Given the description of an element on the screen output the (x, y) to click on. 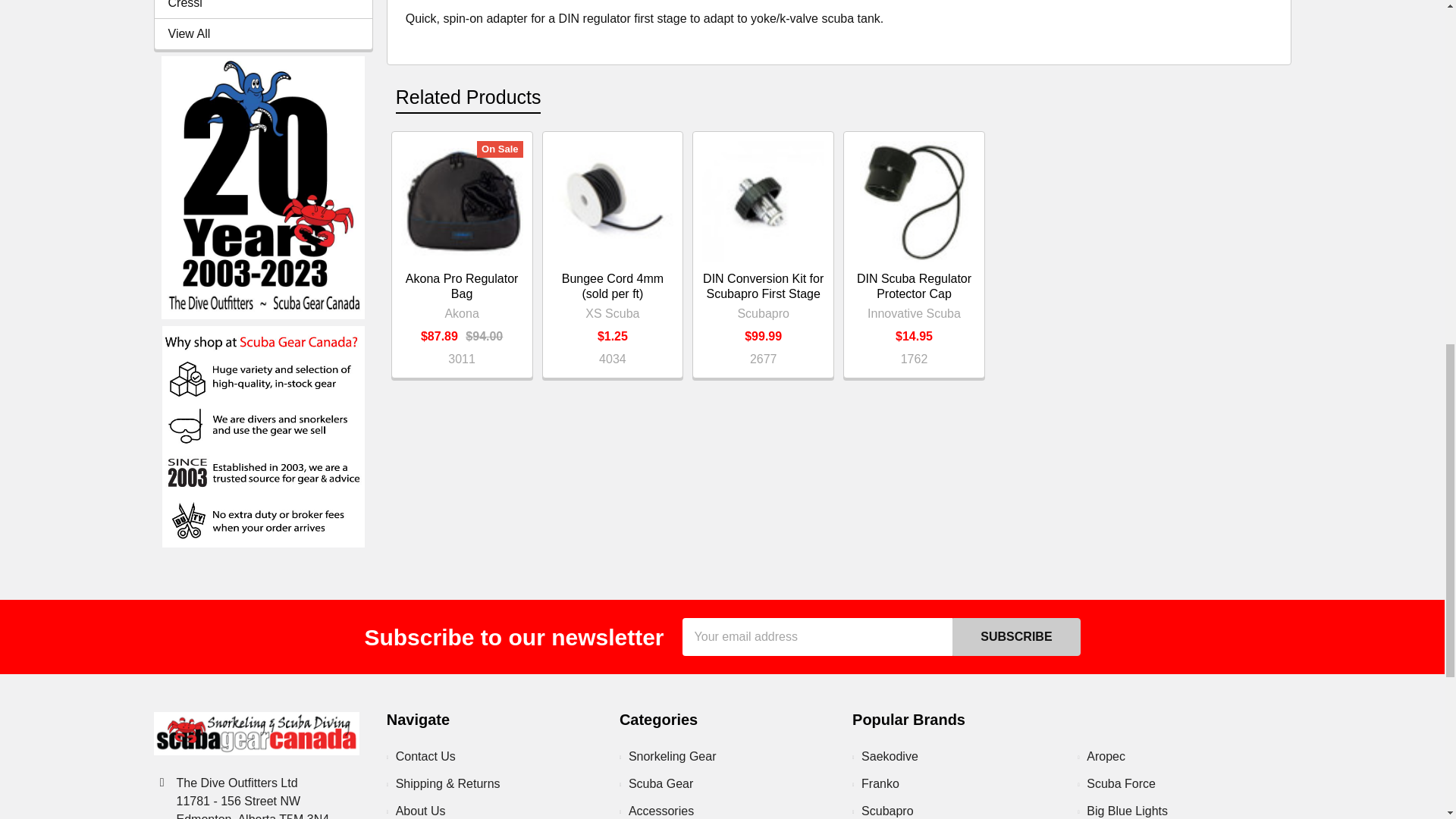
Subscribe (1016, 637)
Cressi (263, 6)
